Given the description of an element on the screen output the (x, y) to click on. 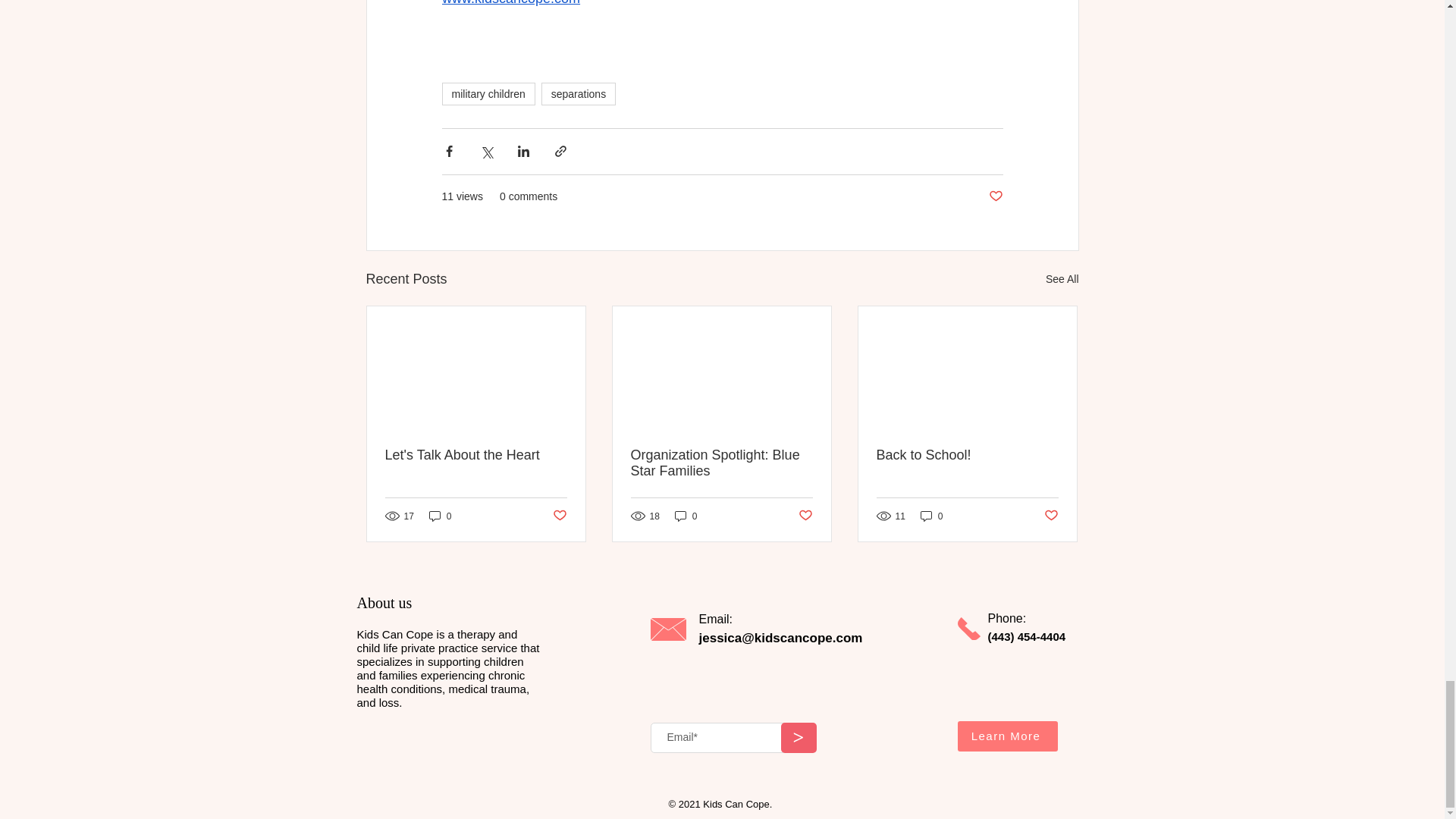
See All (1061, 279)
Post not marked as liked (558, 515)
www.kidscancope.com (510, 2)
Post not marked as liked (995, 196)
military children (487, 93)
separations (578, 93)
0 (440, 515)
Let's Talk About the Heart (476, 455)
